Given the description of an element on the screen output the (x, y) to click on. 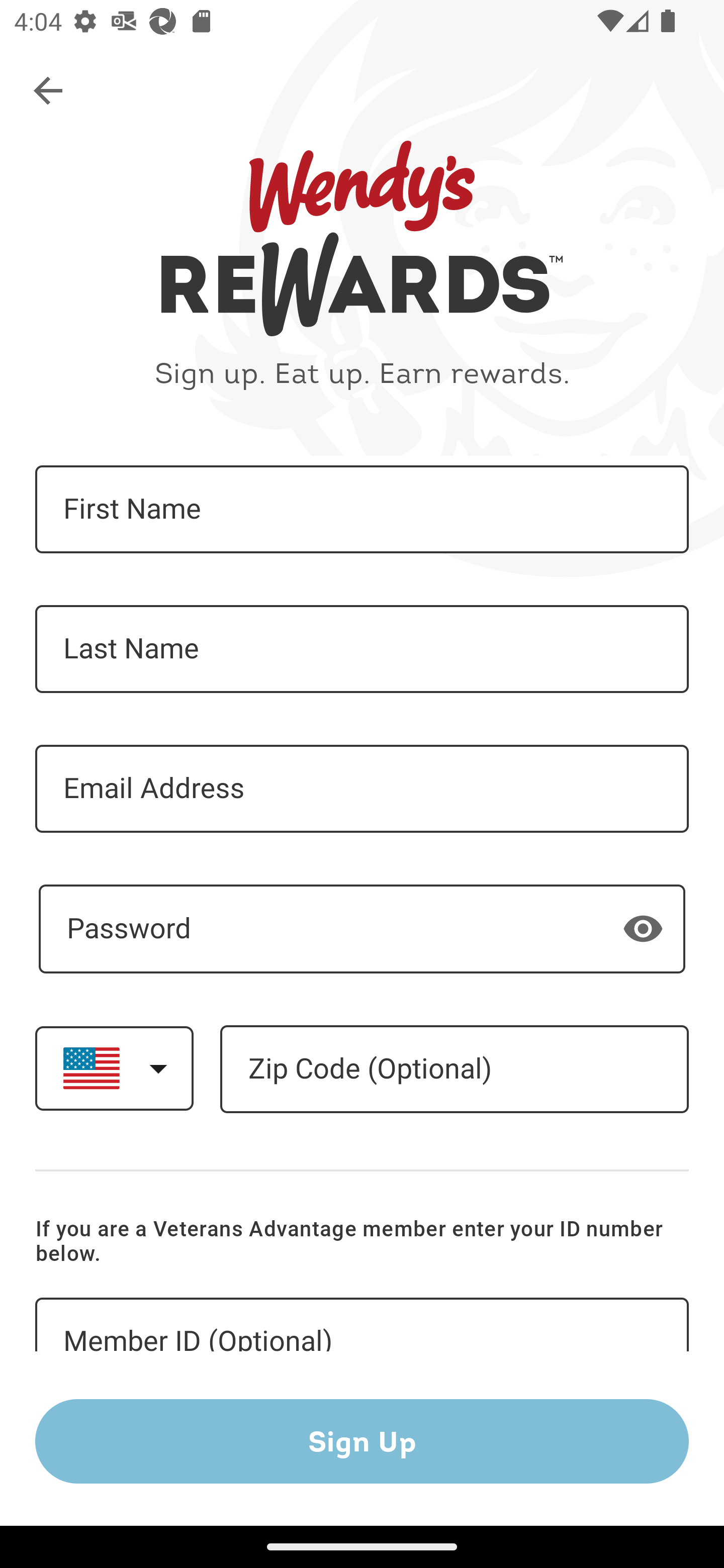
Navigate up (49, 91)
First Name - Required (361, 509)
Last Name - Required (361, 649)
Email Address - Required (361, 788)
- Required (361, 928)
Show password (642, 927)
Zip Code – Optional (454, 1069)
Select a country. United States selected. (114, 1067)
Veterans Advantage ID – Optional (361, 1324)
Sign Up (361, 1440)
